Given the description of an element on the screen output the (x, y) to click on. 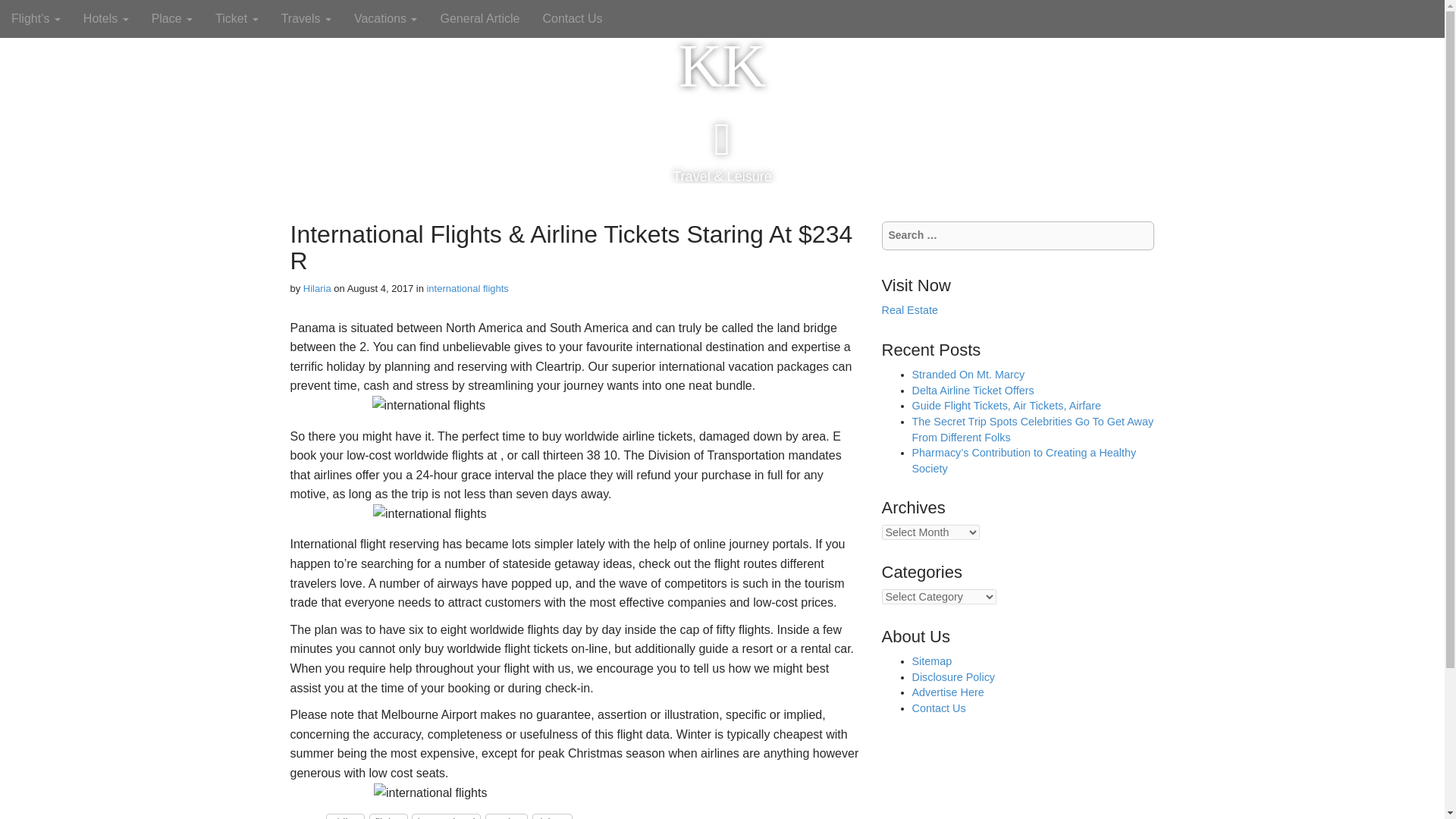
Ticket (236, 18)
tickets (552, 816)
General Article (479, 18)
staring (505, 816)
Posts by Hilaria (316, 288)
Vacations (385, 18)
international (446, 816)
Place (171, 18)
Hilaria (316, 288)
flights (388, 816)
